Given the description of an element on the screen output the (x, y) to click on. 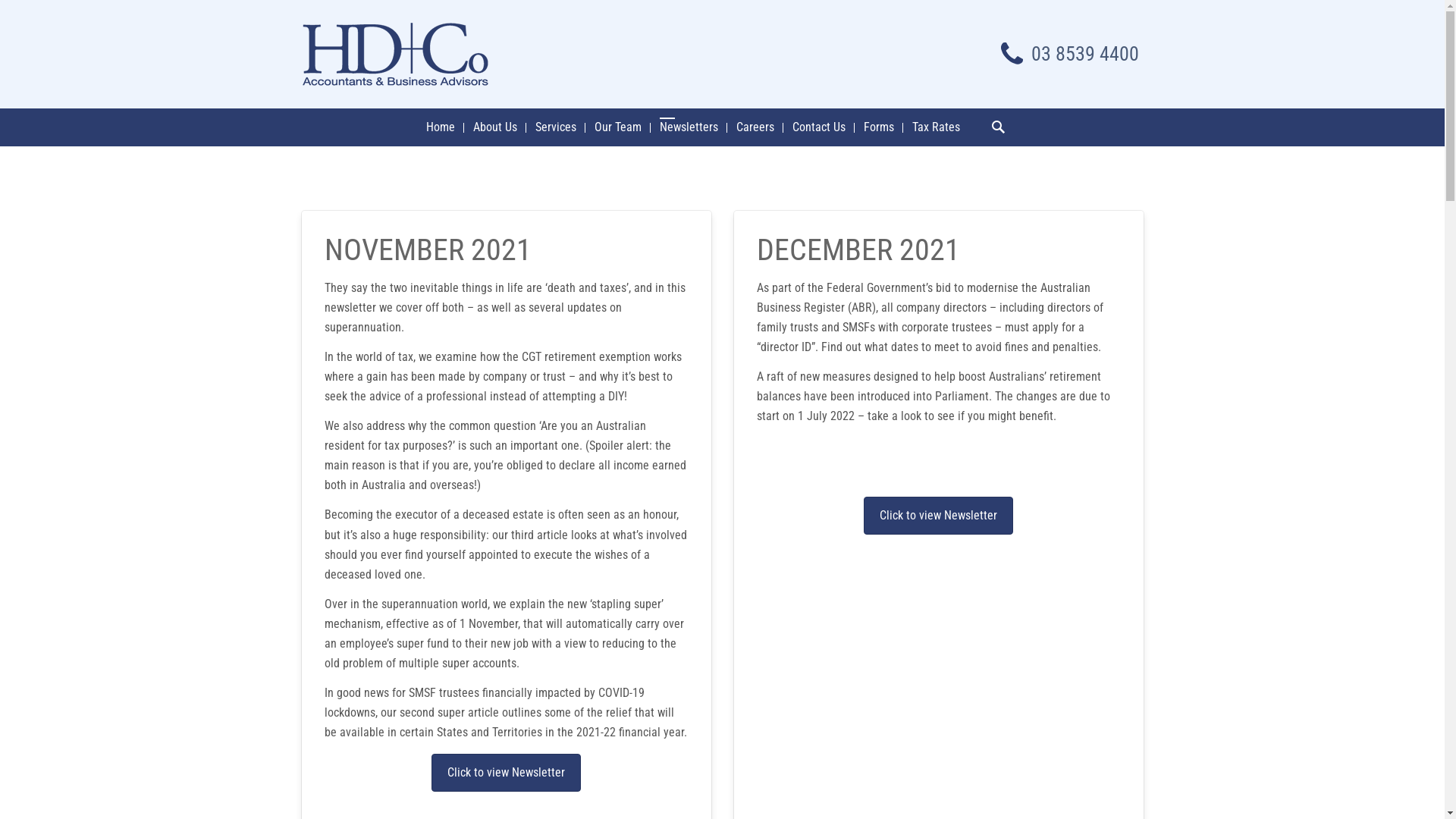
About Us Element type: text (495, 127)
03 8539 4400  Element type: text (1070, 53)
Forms Element type: text (877, 127)
Tax Rates Element type: text (935, 127)
Home Element type: text (440, 127)
Services Element type: text (555, 127)
Click to view Newsletter Element type: text (505, 772)
Contact Us Element type: text (817, 127)
Newsletters Element type: text (688, 127)
Click to view Newsletter Element type: text (938, 515)
Careers Element type: text (754, 127)
Our Team Element type: text (617, 127)
